Given the description of an element on the screen output the (x, y) to click on. 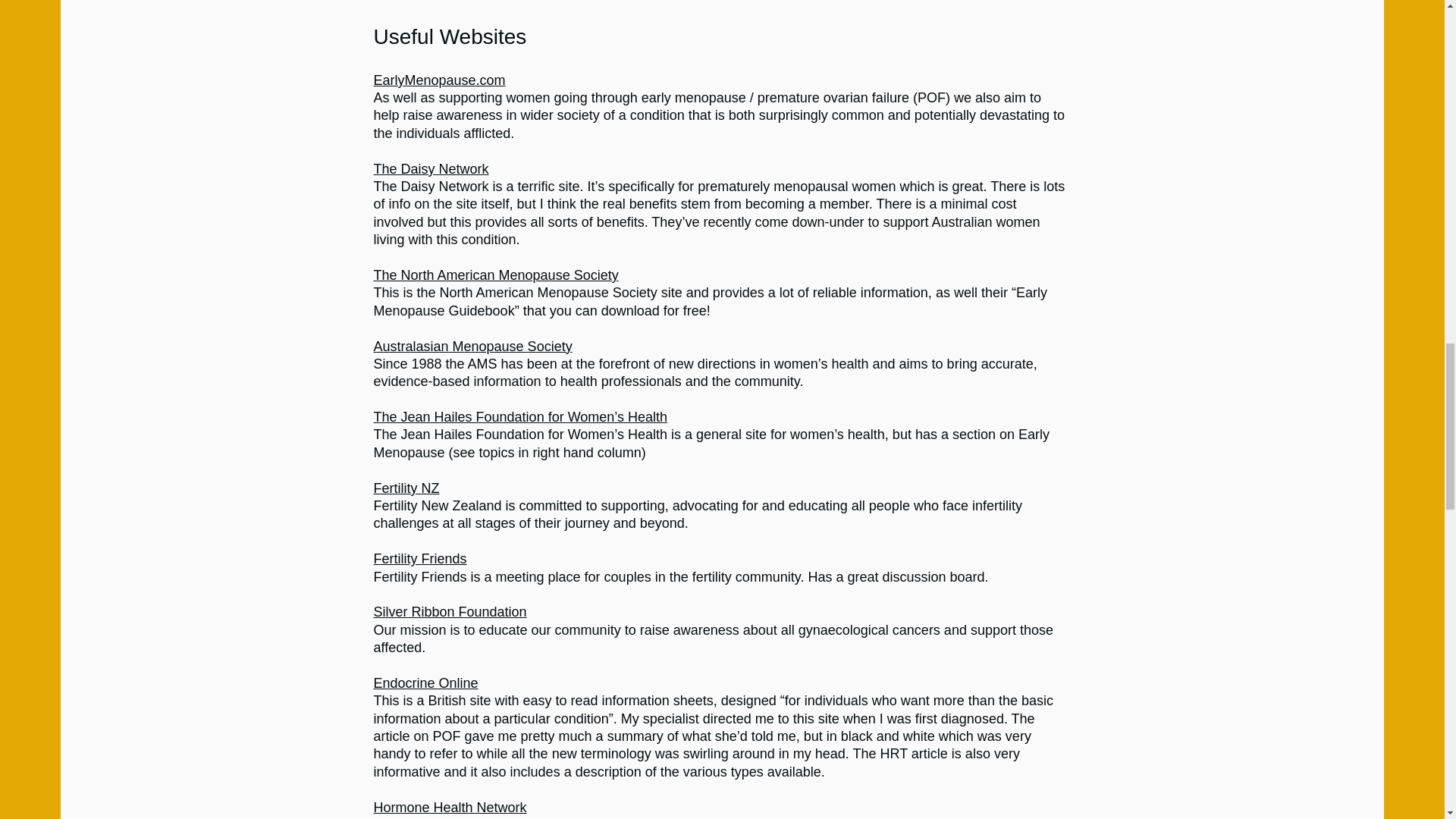
Fertility NZ (405, 488)
The North American Menopause Society (494, 274)
EarlyMenopause.com (438, 79)
Silver Ribbon Foundation (448, 611)
Fertility Friends (418, 558)
Endocrine Online (424, 683)
The Daisy Network (429, 168)
Hormone Health Network (448, 807)
Australasian Menopause Society (472, 345)
